Given the description of an element on the screen output the (x, y) to click on. 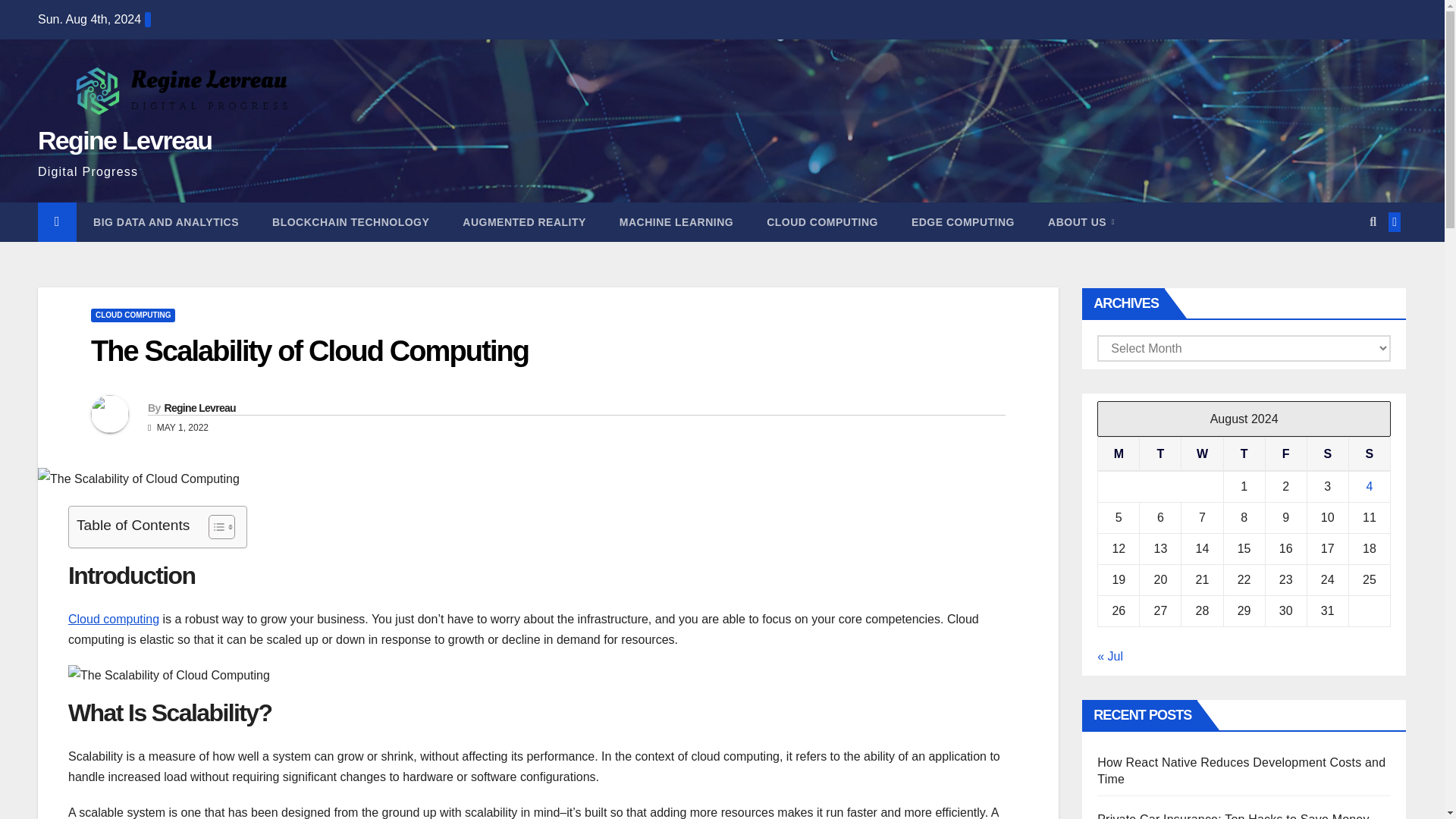
Edge Computing (962, 221)
About Us (1080, 221)
Regine Levreau (198, 408)
ABOUT US (1080, 221)
The Scalability of Cloud Computing (309, 350)
Regine Levreau (124, 140)
Augmented Reality (523, 221)
CLOUD COMPUTING (822, 221)
Cloud Computing (822, 221)
CLOUD COMPUTING (132, 315)
